Given the description of an element on the screen output the (x, y) to click on. 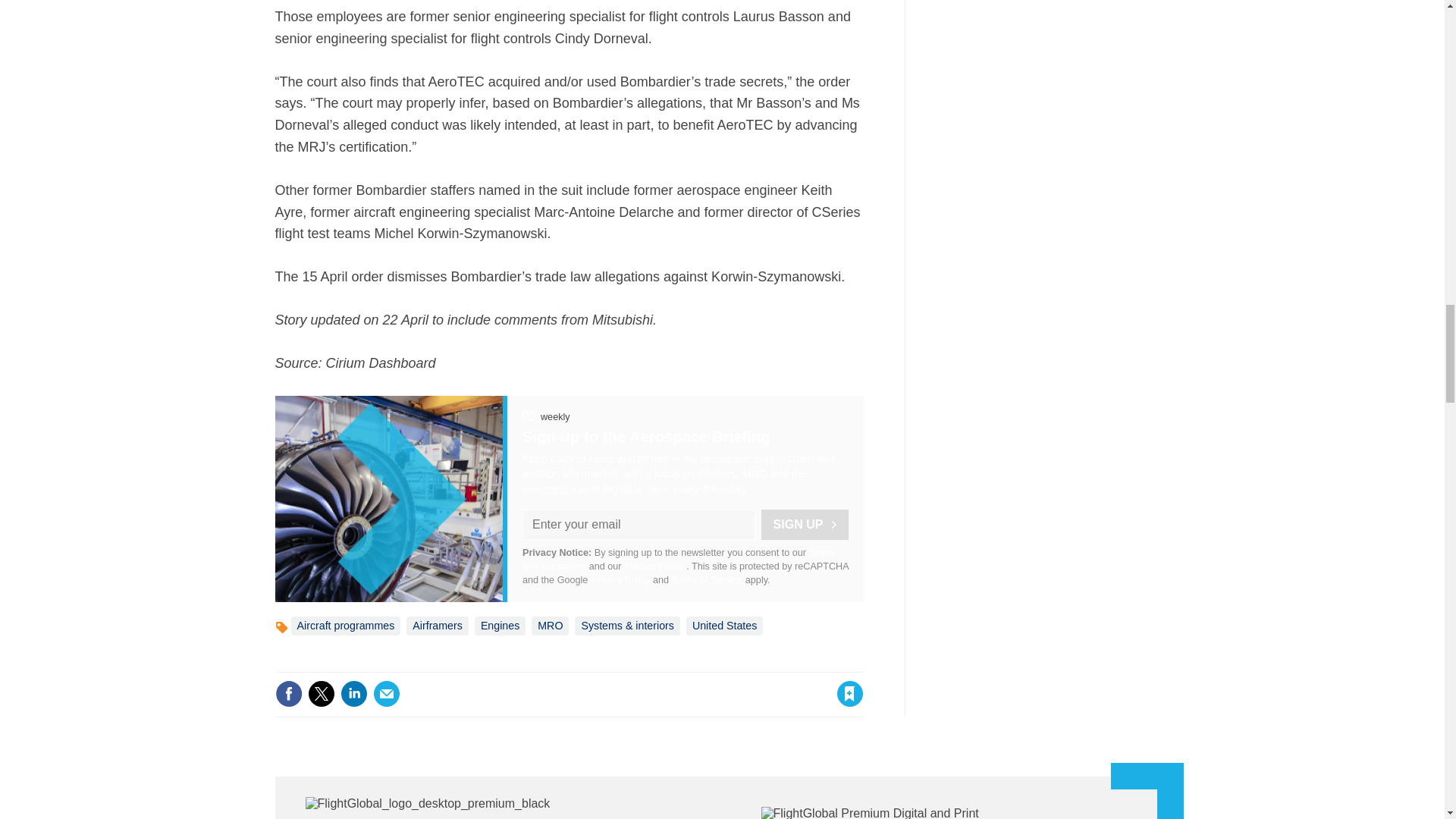
Email this article (386, 693)
Share this on Facebook (288, 693)
Share this on Linked in (352, 693)
Share this on Twitter (320, 693)
